Given the description of an element on the screen output the (x, y) to click on. 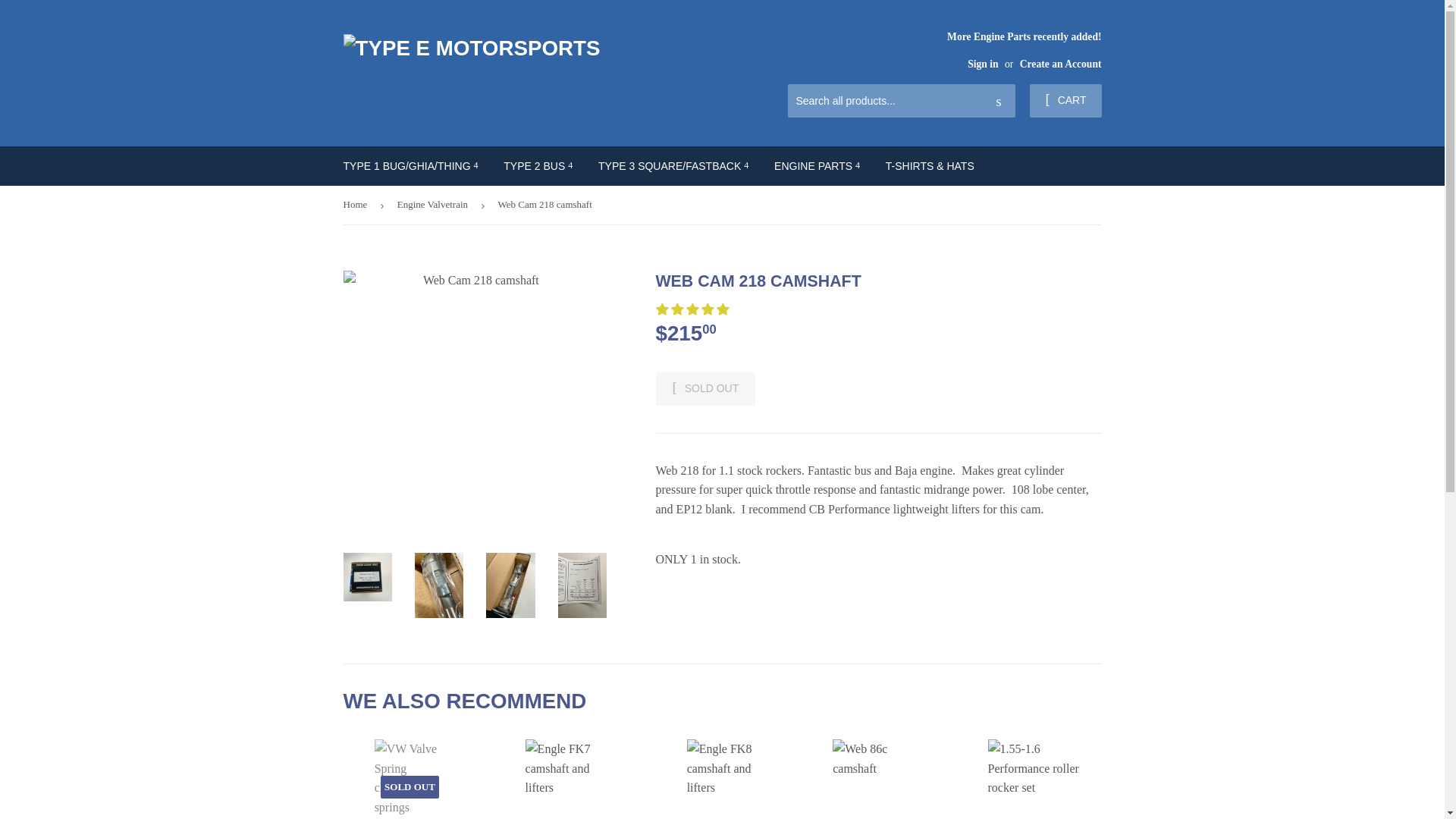
Search (997, 101)
CART (1064, 100)
Sign in (982, 63)
More Engine Parts recently added! (1023, 49)
Create an Account (1061, 63)
